Given the description of an element on the screen output the (x, y) to click on. 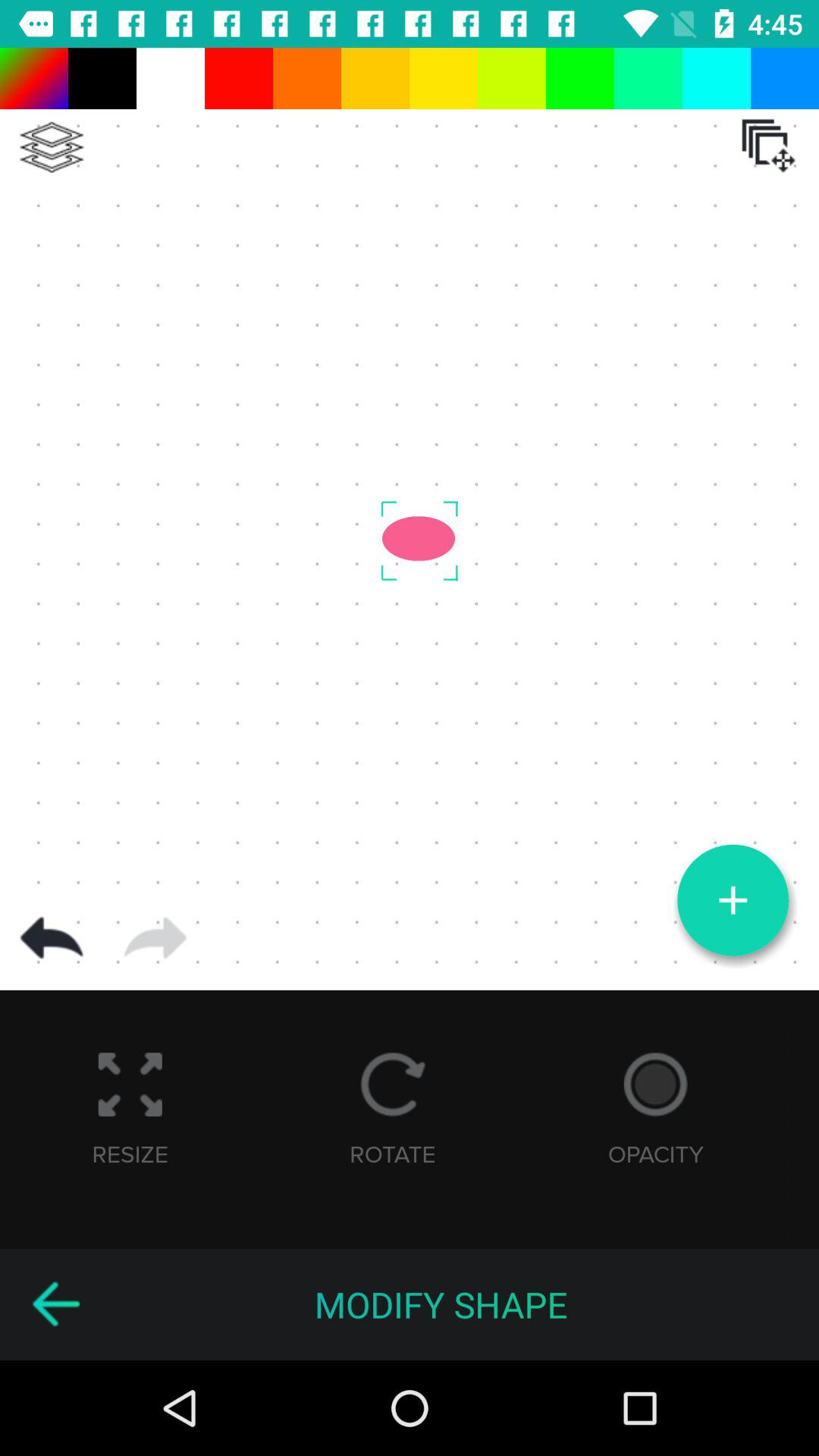
go to next (155, 938)
